Given the description of an element on the screen output the (x, y) to click on. 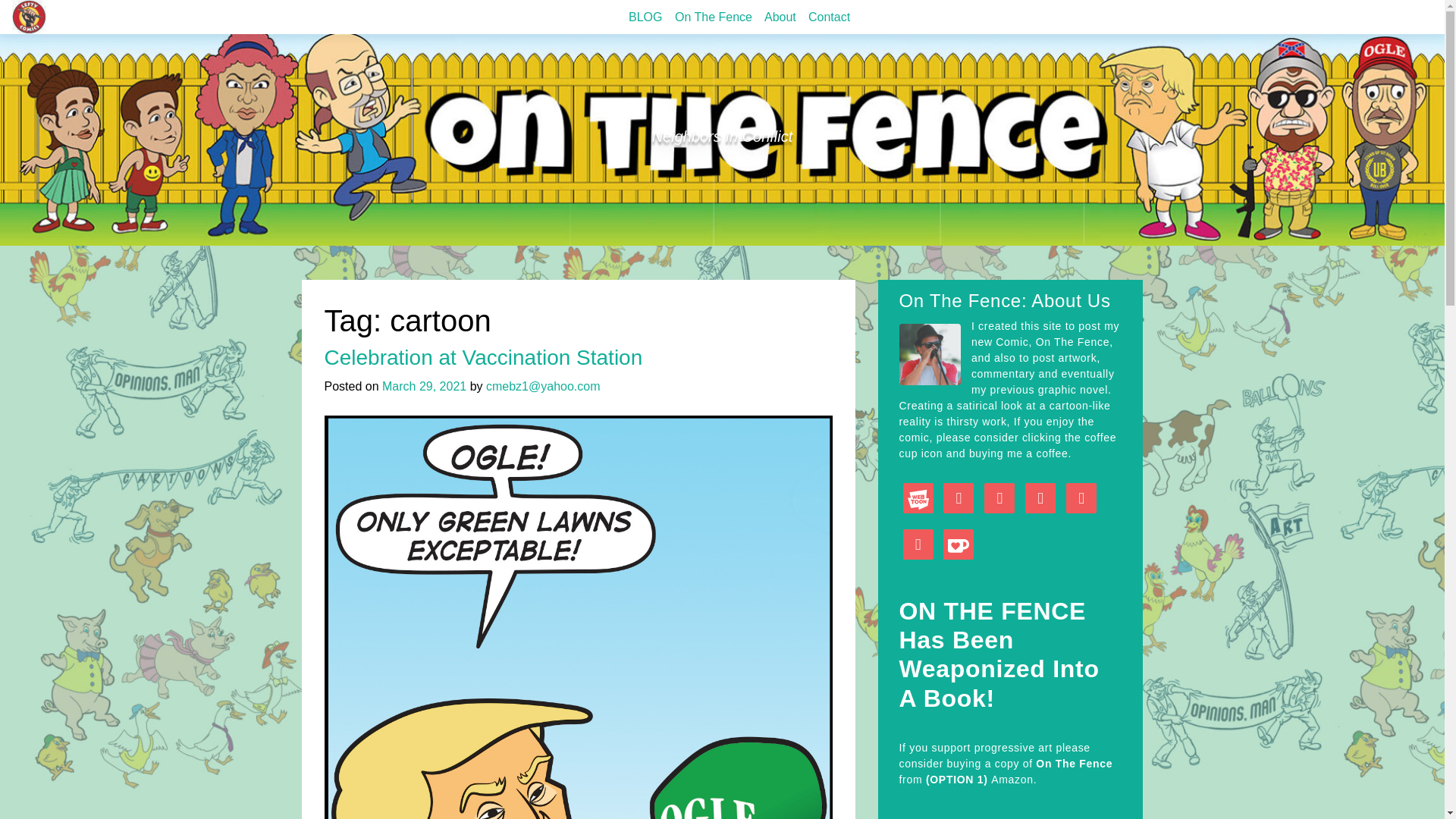
BLOG (645, 16)
Line Webtoon (917, 497)
About (780, 16)
Instagram (999, 497)
Ko-fi (958, 543)
Discord (958, 497)
March 29, 2021 (423, 386)
On The Fence (713, 16)
Twitter (1040, 497)
Celebration at Vaccination Station (483, 357)
On The Fence (713, 16)
BLOG (645, 16)
Contact (829, 16)
Email (917, 543)
Contact (829, 16)
